Given the description of an element on the screen output the (x, y) to click on. 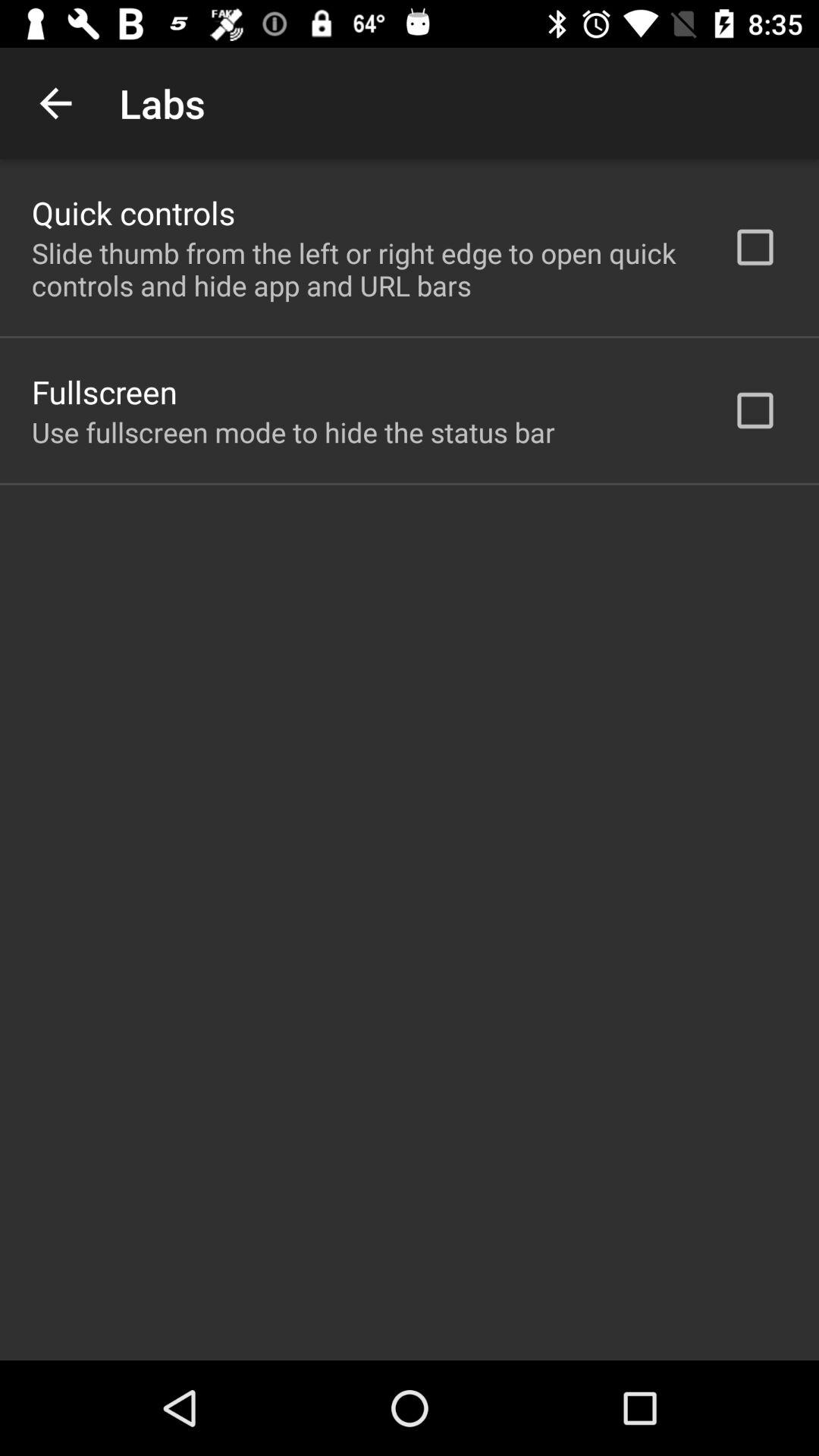
turn on item next to labs (55, 103)
